Given the description of an element on the screen output the (x, y) to click on. 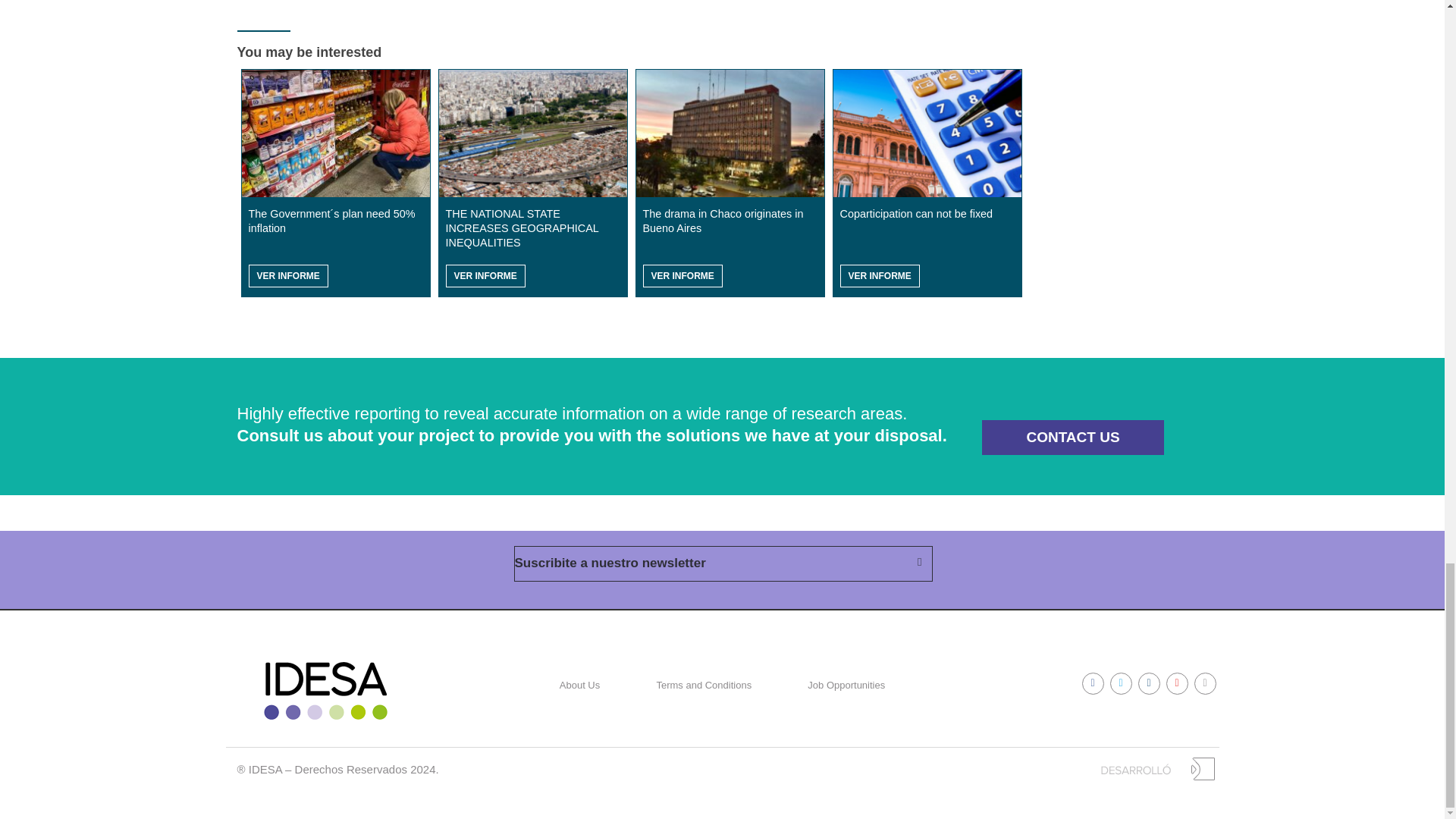
Coparticipation can not be fixed (927, 133)
THE NATIONAL STATE INCREASES GEOGRAPHICAL INEQUALITIES (532, 133)
The drama in Chaco originates in Bueno Aires (729, 133)
